Given the description of an element on the screen output the (x, y) to click on. 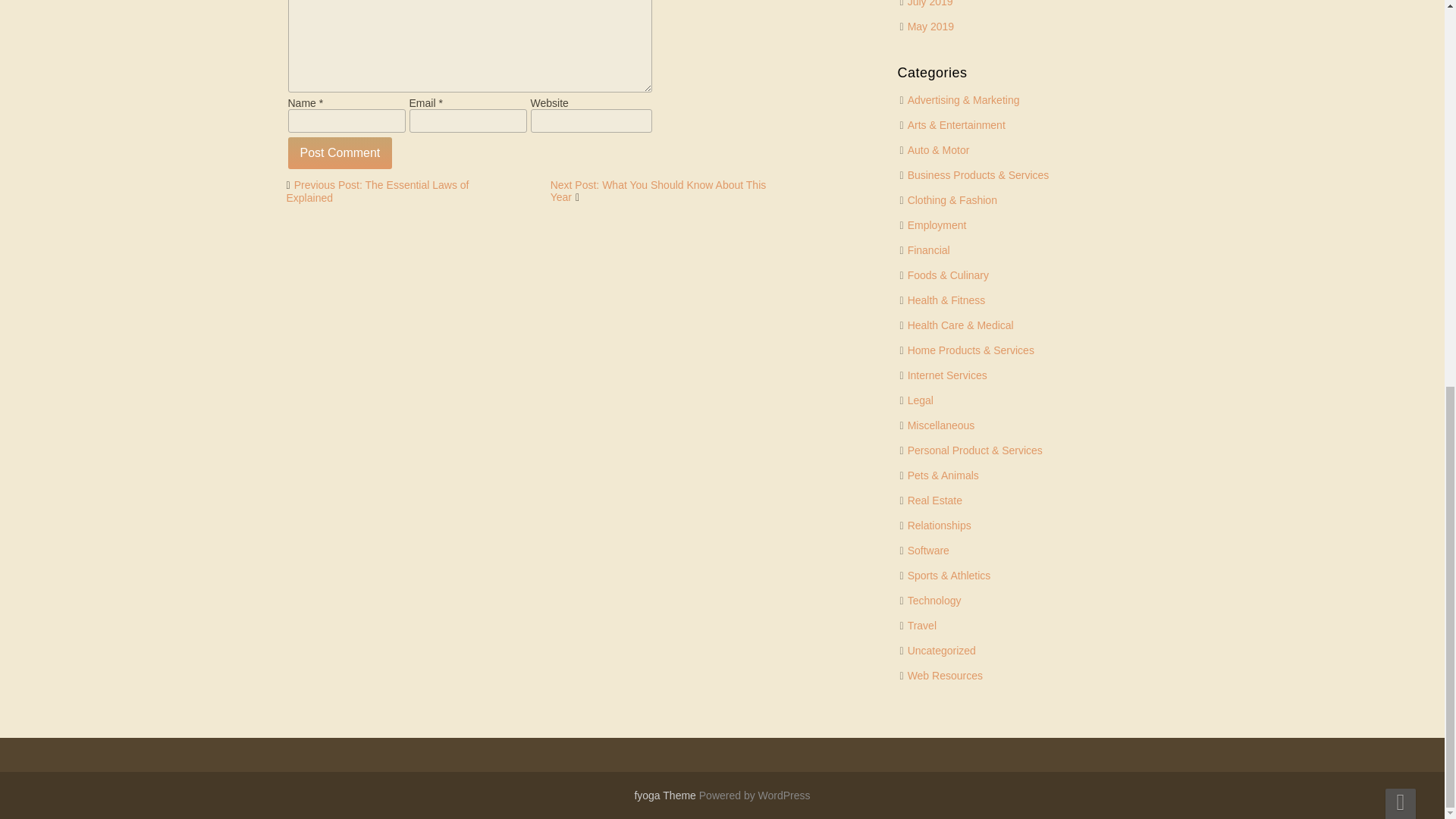
Post Comment (340, 152)
July 2019 (930, 3)
Post Comment (340, 152)
Next Post: What You Should Know About This Year (658, 191)
Previous Post: The Essential Laws of Explained (377, 191)
May 2019 (930, 26)
fyoga Theme (665, 795)
